Given the description of an element on the screen output the (x, y) to click on. 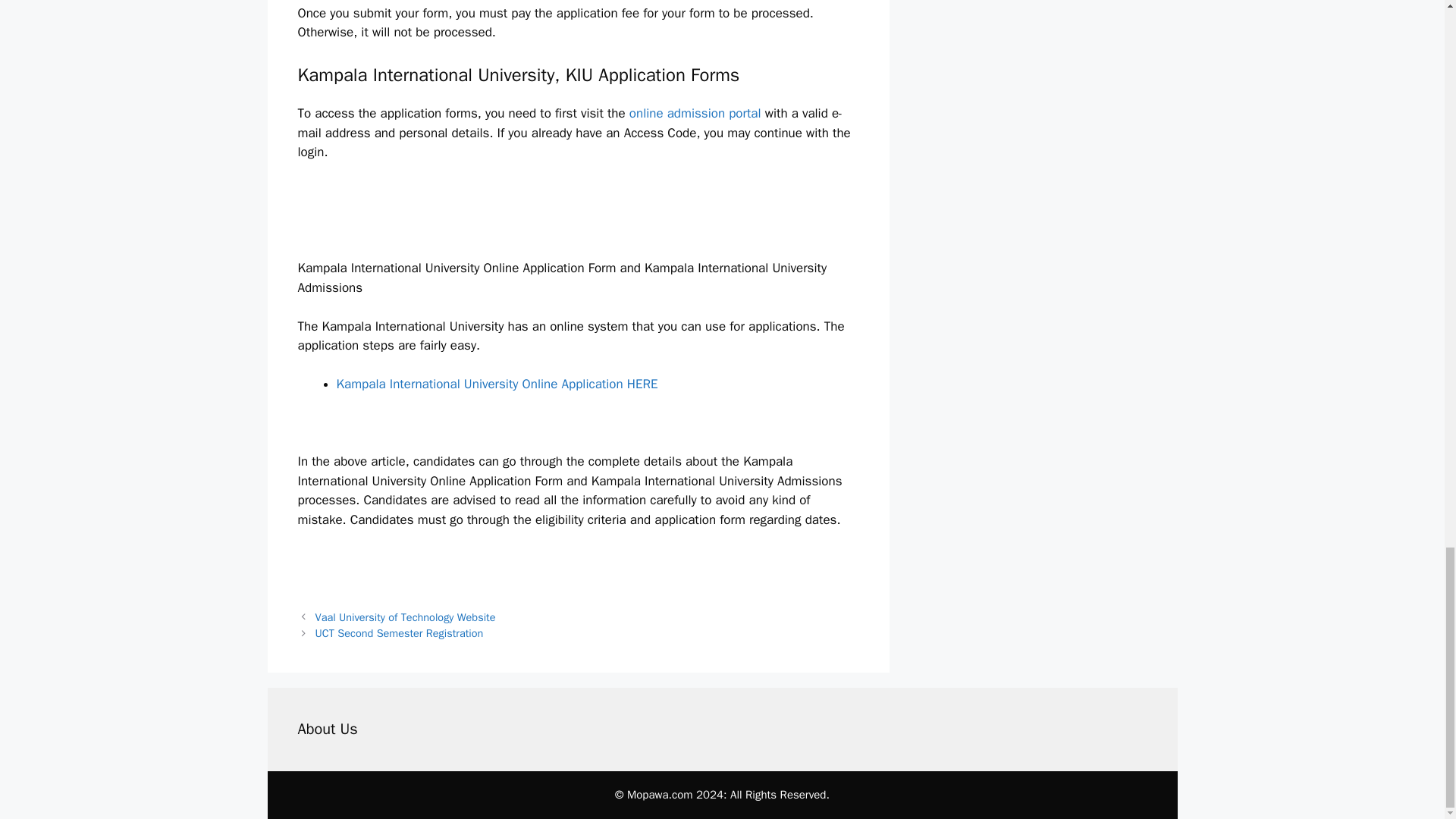
Vaal University of Technology Website (405, 617)
Kampala International University Online Application HERE (497, 383)
online admission portal  (696, 113)
UCT Second Semester Registration (399, 632)
